Given the description of an element on the screen output the (x, y) to click on. 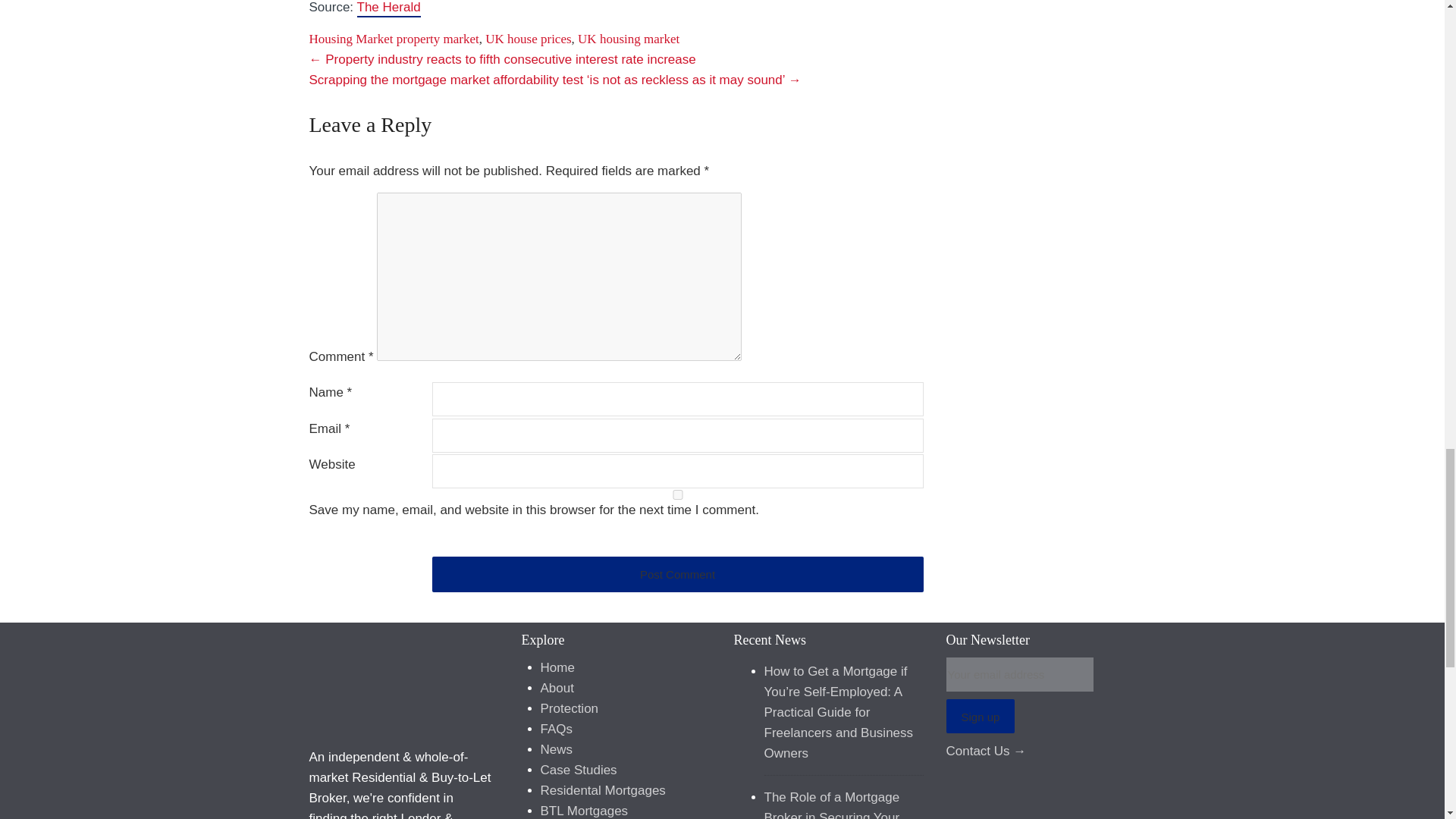
yes (677, 494)
Sign up (980, 716)
Post Comment (677, 574)
